Given the description of an element on the screen output the (x, y) to click on. 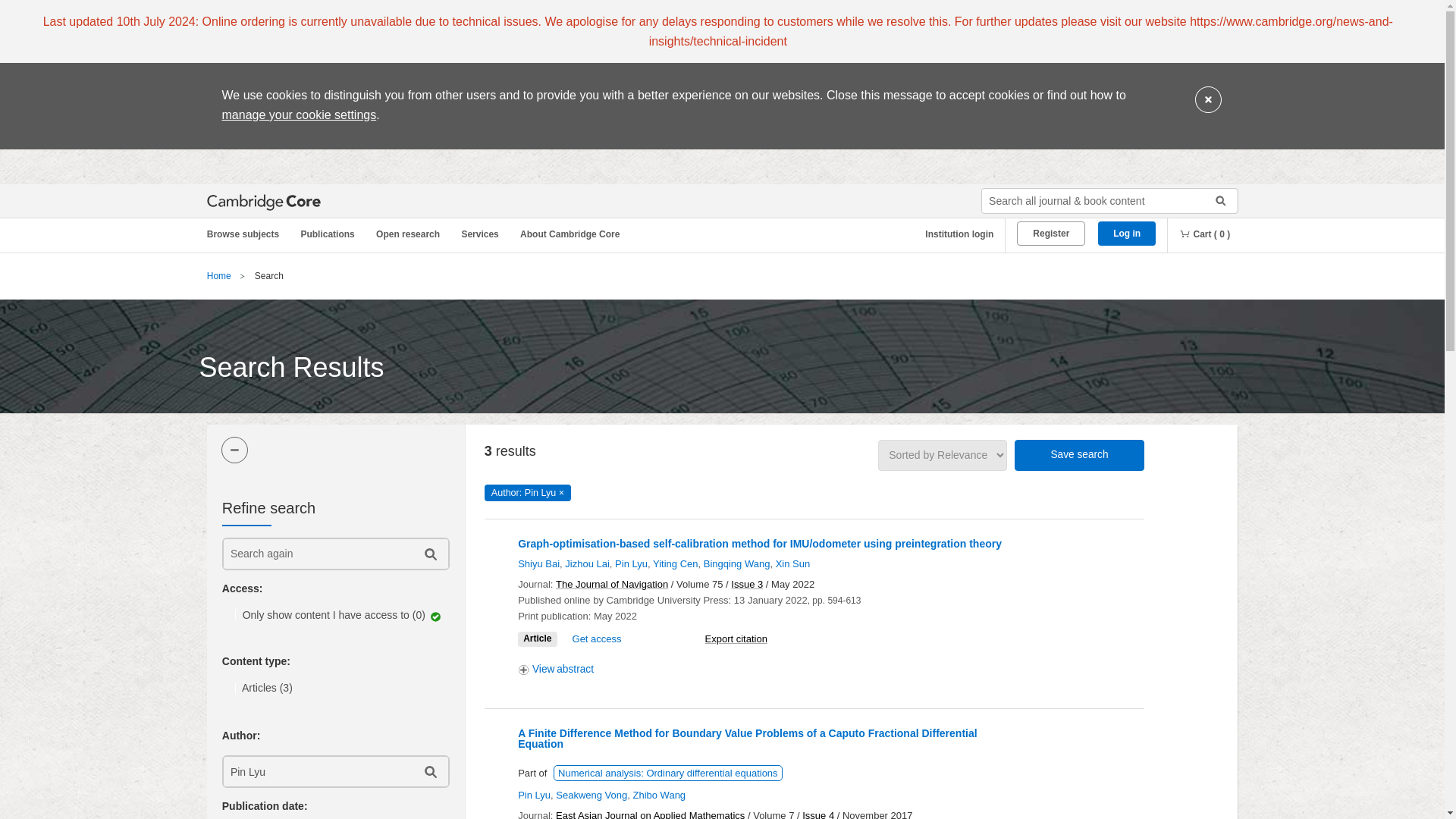
Publications (330, 234)
manage your cookie settings (298, 114)
Submit search (1214, 200)
About Cambridge Core (572, 234)
Pin Lyu (316, 771)
Submit search (1214, 200)
Close cookie message (1208, 99)
Browse subjects (250, 234)
Open research (410, 234)
Submit author search (429, 771)
Register (1050, 233)
Institution login (953, 234)
Submit refine search (429, 553)
Services (482, 234)
Submit author search (429, 771)
